Given the description of an element on the screen output the (x, y) to click on. 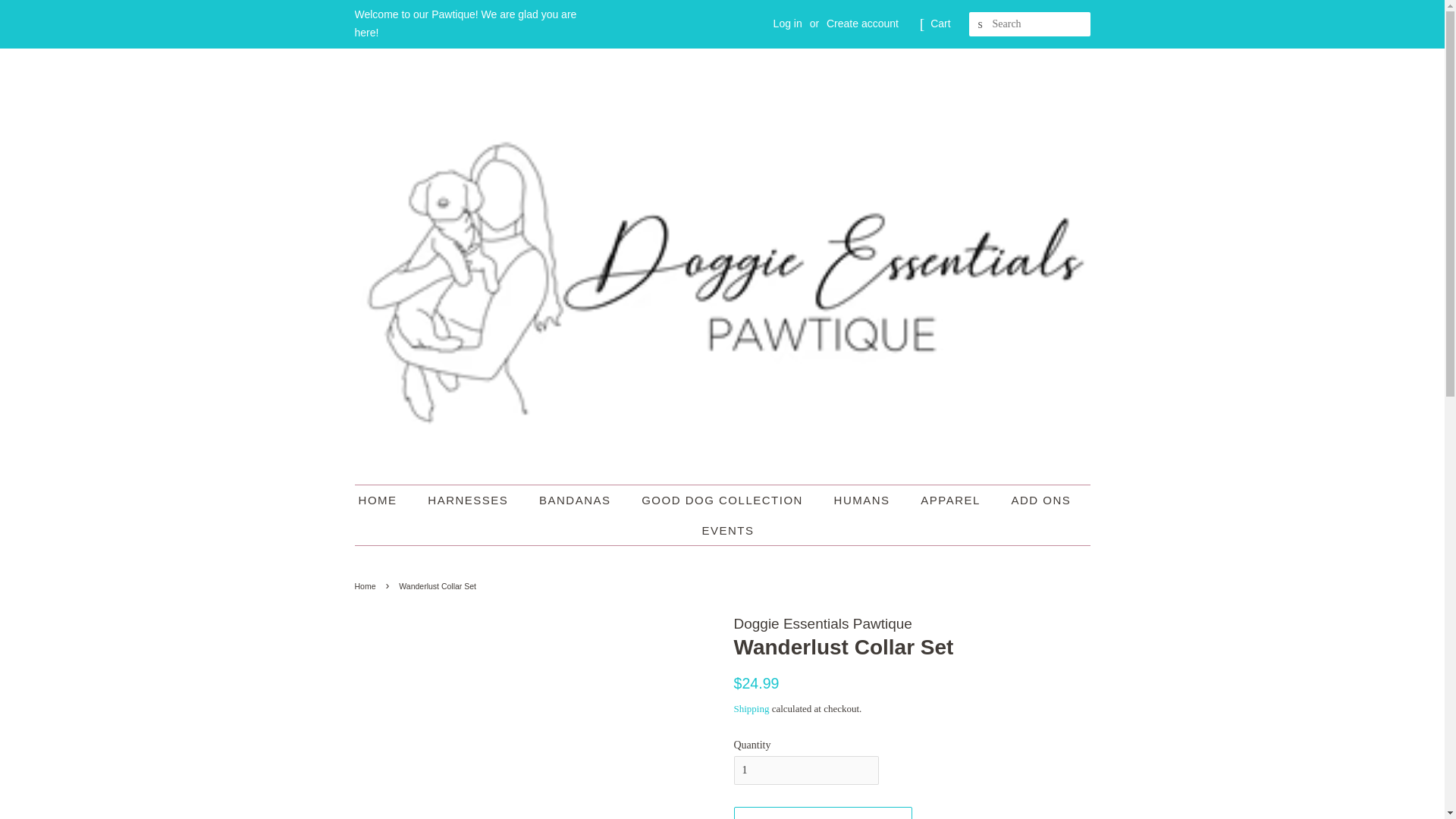
Log in (787, 23)
1 (806, 769)
HARNESSES (469, 500)
Back to the frontpage (367, 585)
Cart (940, 24)
ADD ONS (1043, 500)
APPAREL (951, 500)
GOOD DOG COLLECTION (724, 500)
Shipping (751, 708)
SEARCH (980, 24)
